Given the description of an element on the screen output the (x, y) to click on. 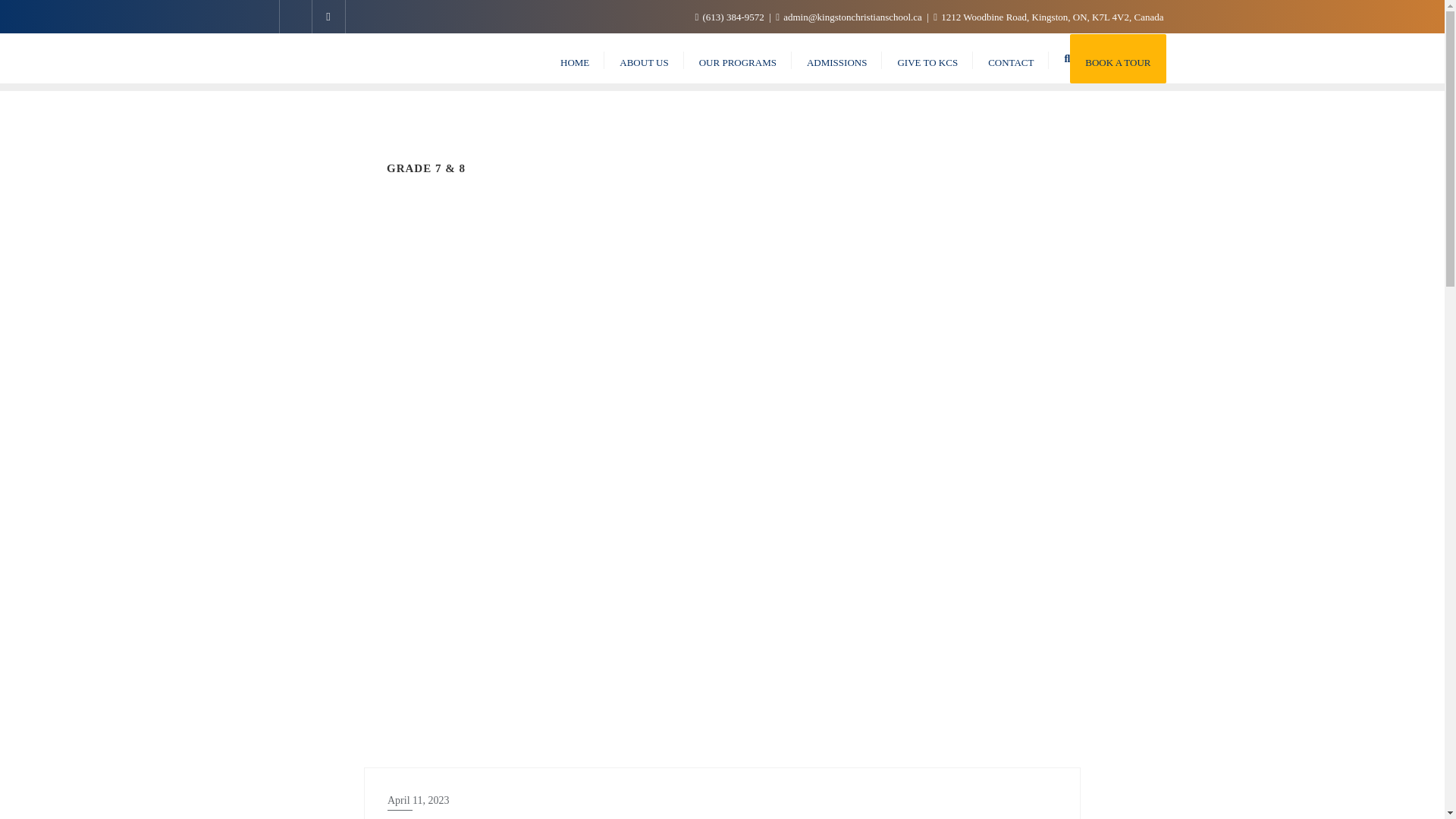
ABOUT US (643, 58)
HOME (574, 58)
BOOK A TOUR (1118, 58)
1212 Woodbine Road, Kingston, ON, K7L 4V2, Canada (1048, 16)
GIVE TO KCS (927, 58)
ADMISSIONS (837, 58)
OUR PROGRAMS (738, 58)
April 11, 2023 (722, 800)
CONTACT (1010, 58)
